Given the description of an element on the screen output the (x, y) to click on. 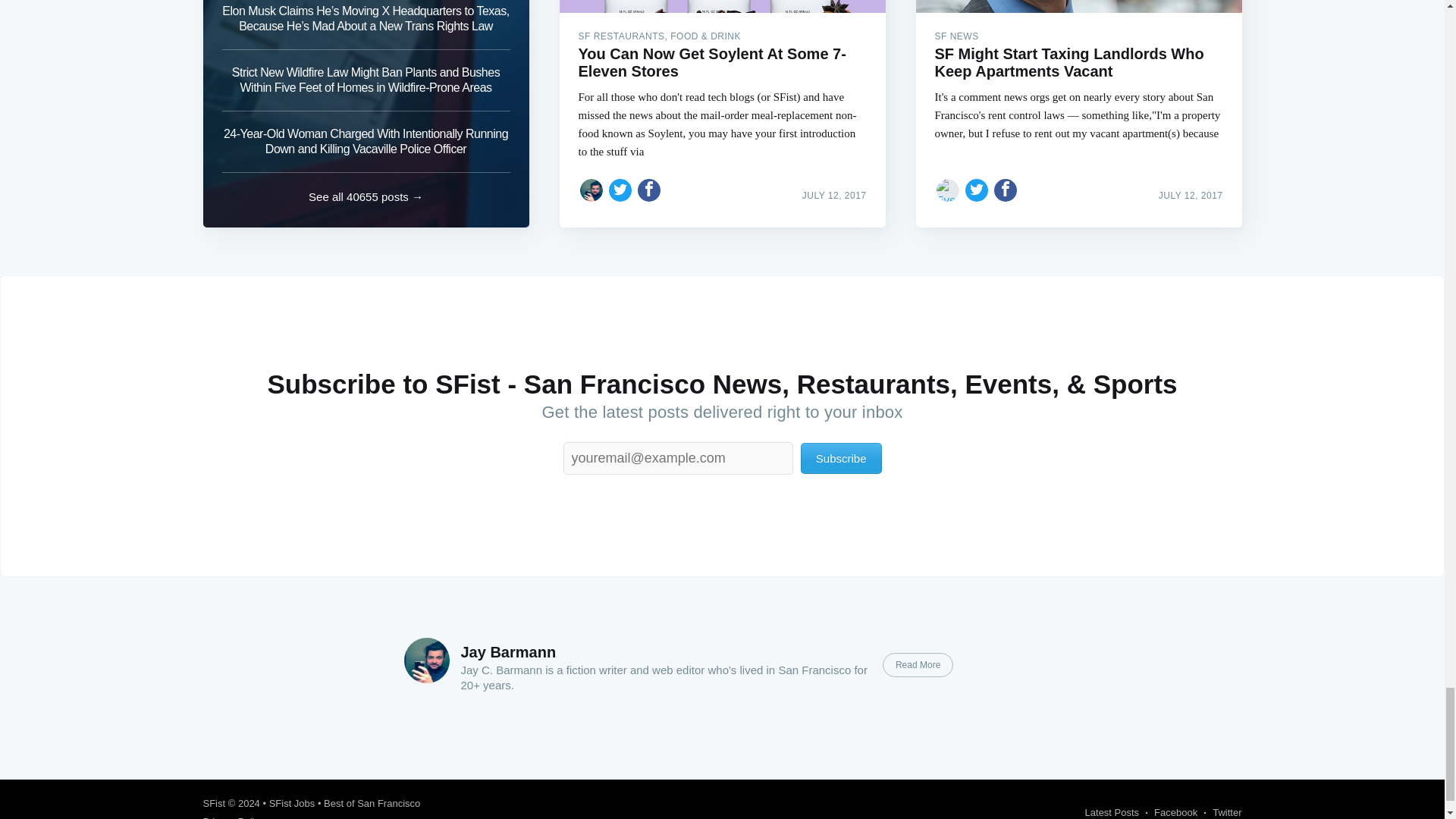
Share on Facebook (649, 190)
Share on Twitter (620, 190)
Share on Twitter (976, 190)
Share on Facebook (1004, 190)
